Given the description of an element on the screen output the (x, y) to click on. 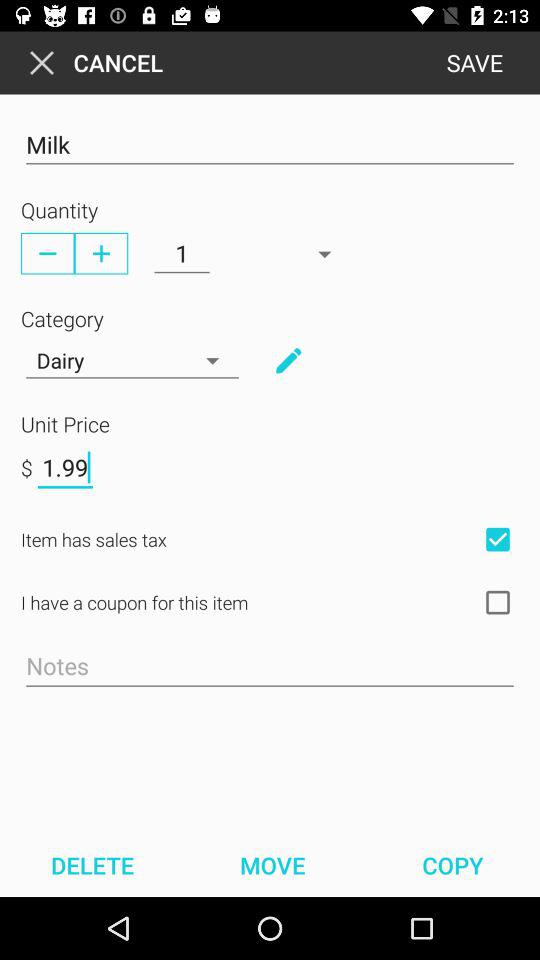
uncheck (498, 539)
